Given the description of an element on the screen output the (x, y) to click on. 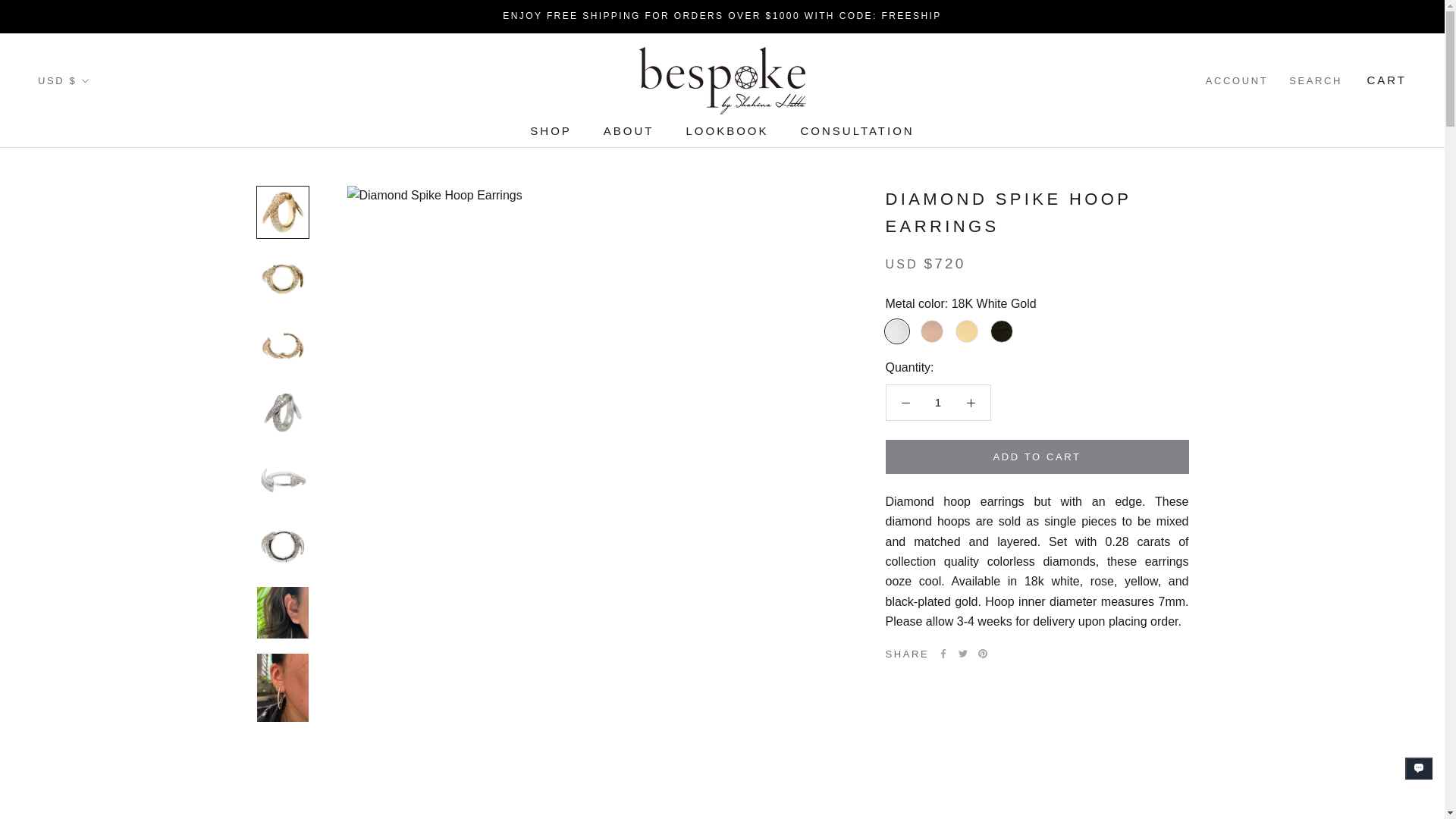
1 (938, 401)
